Given the description of an element on the screen output the (x, y) to click on. 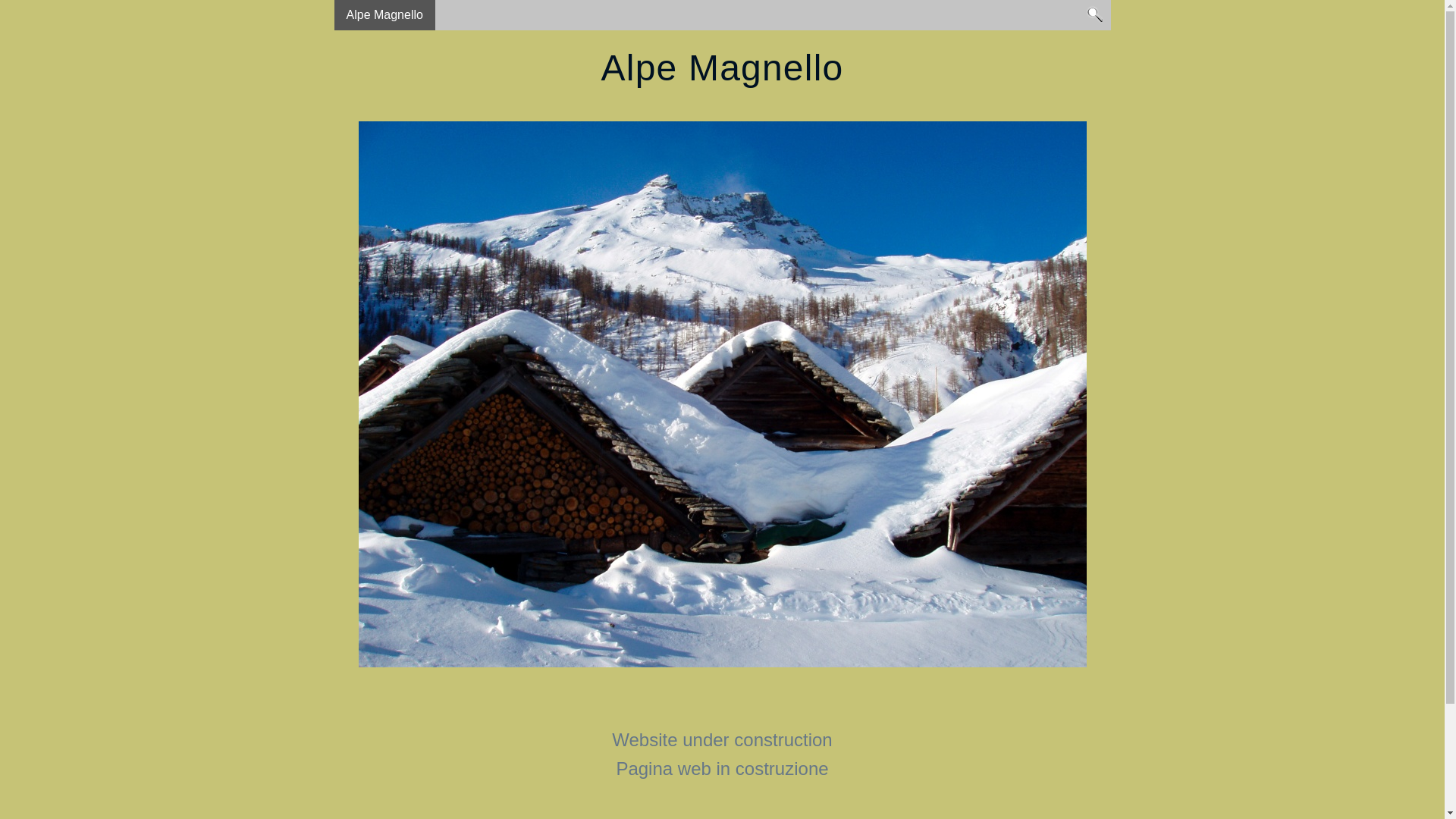
Suchen Element type: hover (1094, 14)
Alpe Magnello Element type: text (383, 15)
w L Element type: hover (721, 394)
